Given the description of an element on the screen output the (x, y) to click on. 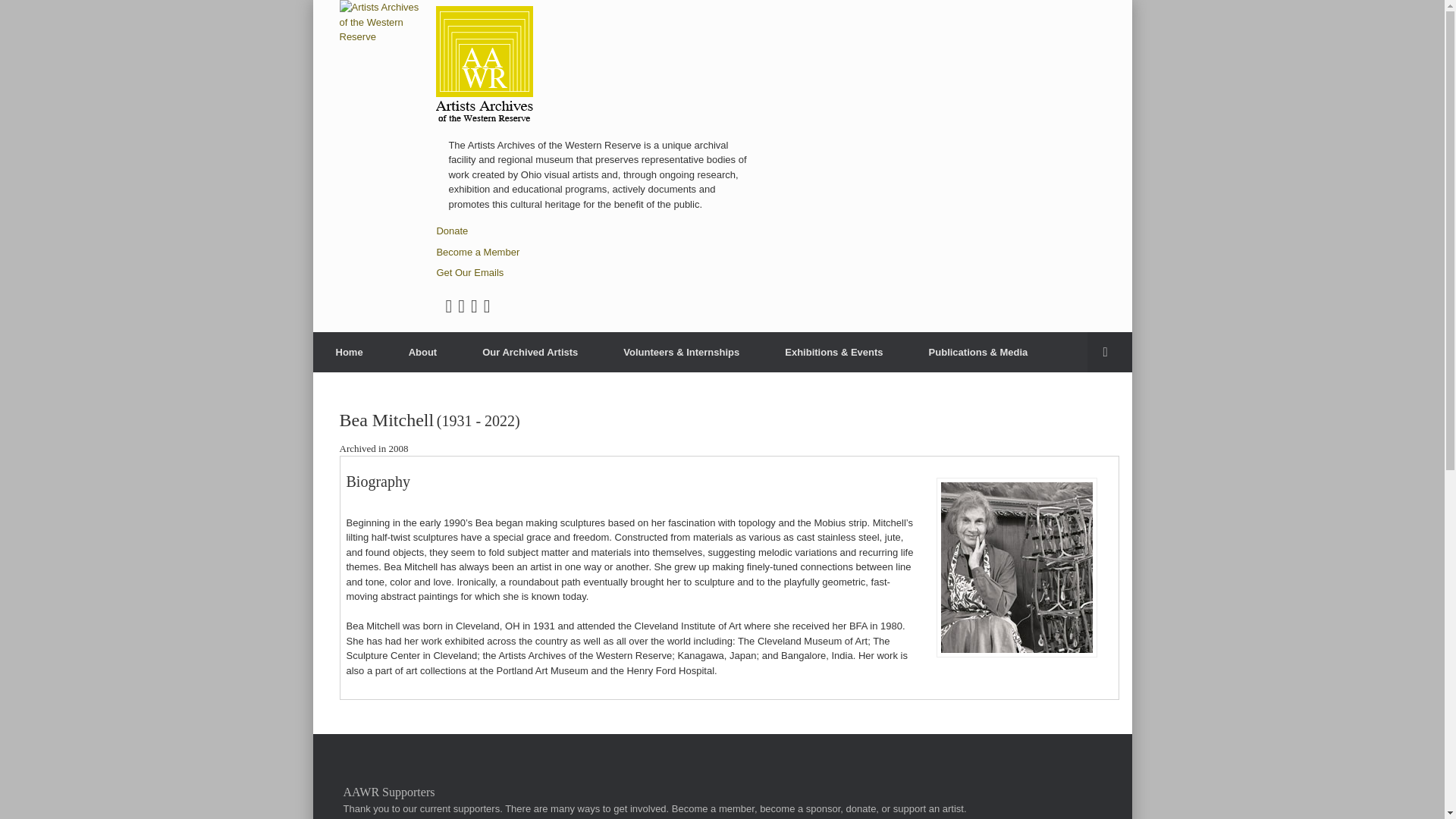
Our Archived Artists (529, 352)
About (422, 352)
Home (349, 352)
Become a Member (477, 251)
Artists Archives of the Western Reserve (382, 22)
Get Our Emails (469, 272)
Donate (451, 230)
